Given the description of an element on the screen output the (x, y) to click on. 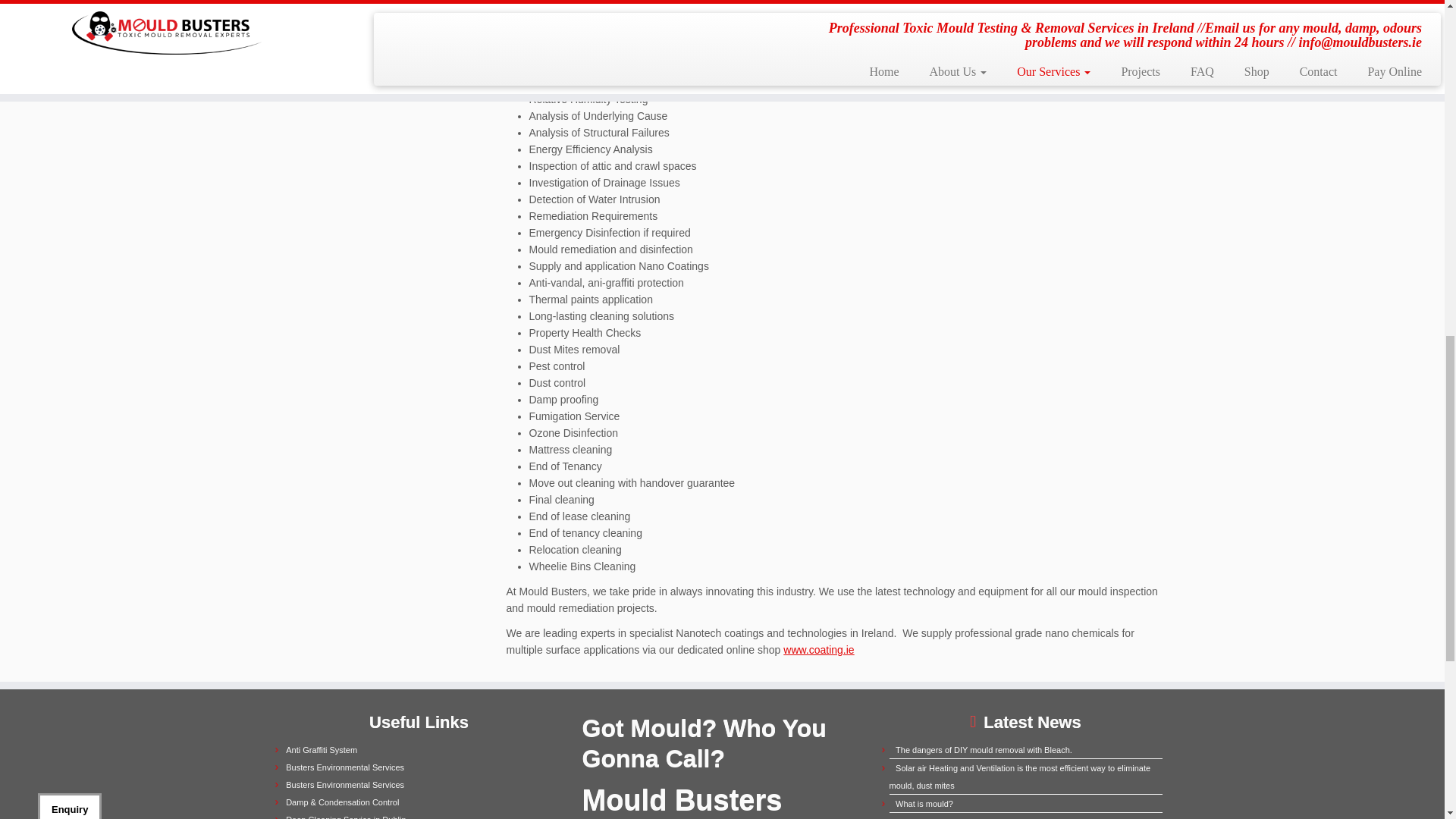
Busters Environmental Services (344, 784)
Busters Environmental Services (344, 767)
Mould removal and decontamination services in Ireland (344, 784)
www.coating.ie (818, 649)
Domestic and commercial cleaning services in Dublin (345, 816)
Anti Graffiti System (320, 749)
Damp Busters (341, 801)
Submit (199, 235)
